Given the description of an element on the screen output the (x, y) to click on. 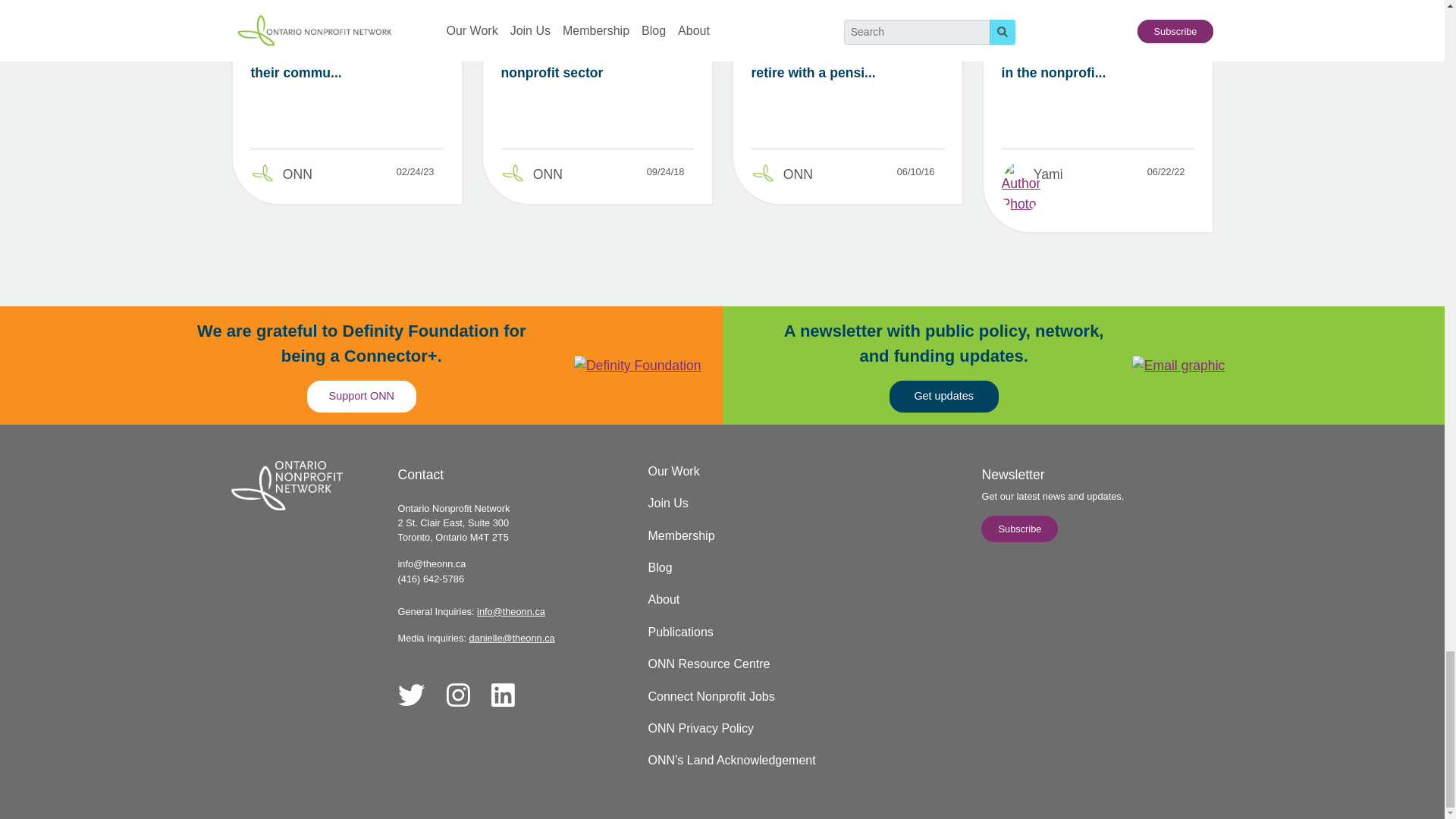
ONN (297, 174)
Yami (1047, 174)
ONN (547, 174)
ONN (797, 174)
Support ONN (361, 396)
Get updates (943, 396)
